Given the description of an element on the screen output the (x, y) to click on. 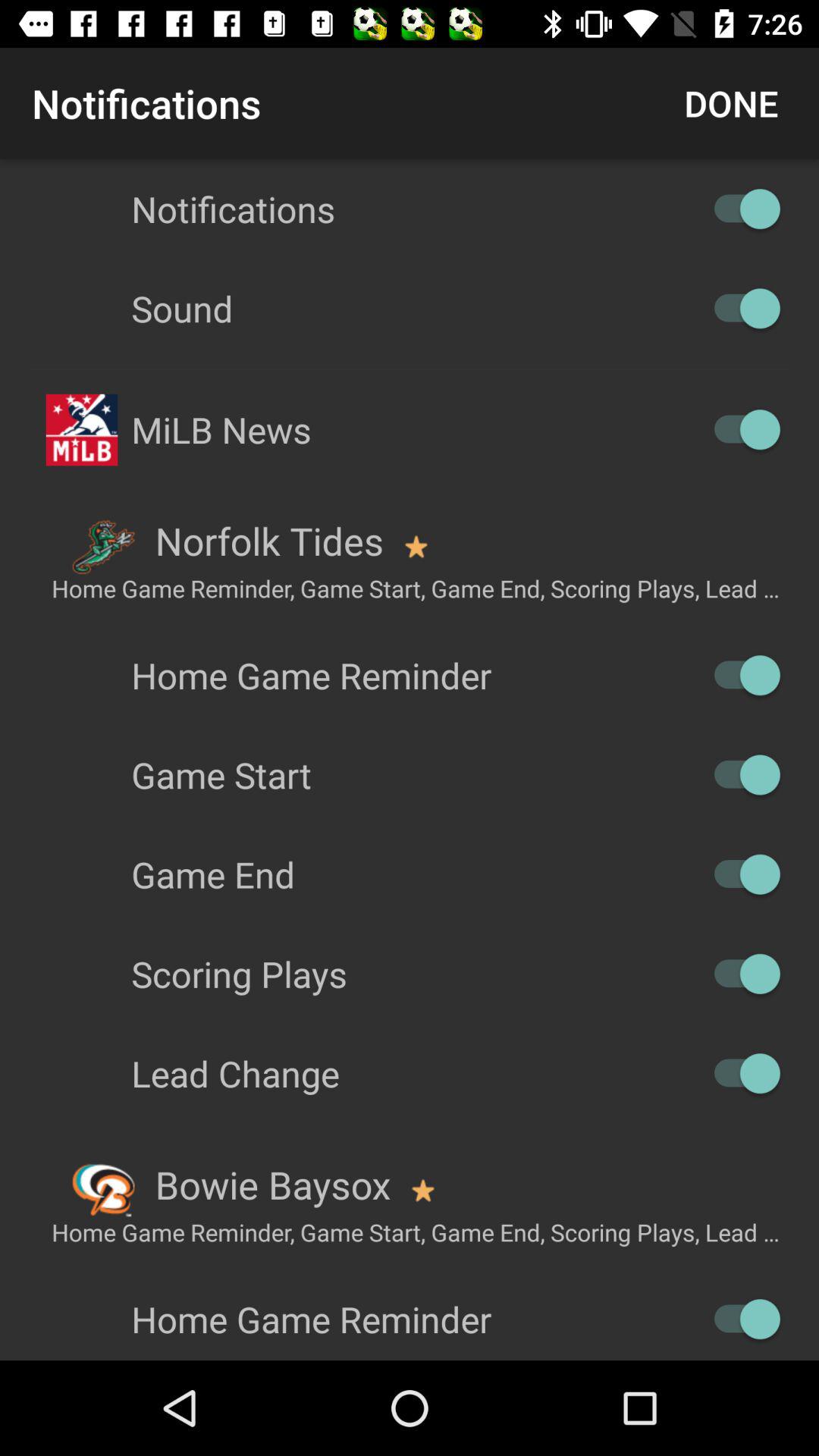
toggle autoplay option (739, 774)
